Given the description of an element on the screen output the (x, y) to click on. 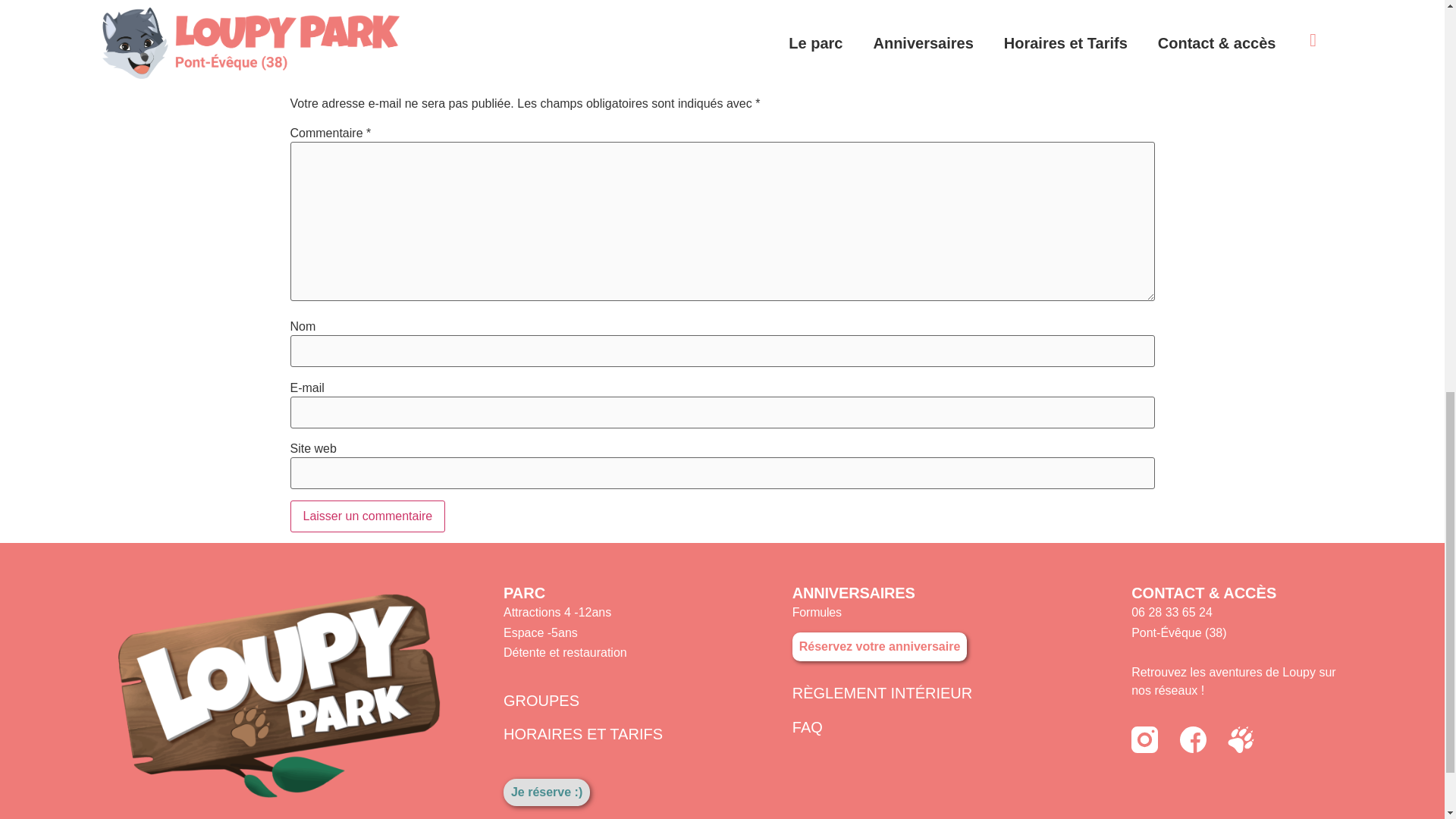
PARC (523, 592)
Attractions 4 -12ans (557, 612)
Laisser un commentaire (367, 516)
Laisser un commentaire (367, 516)
